Given the description of an element on the screen output the (x, y) to click on. 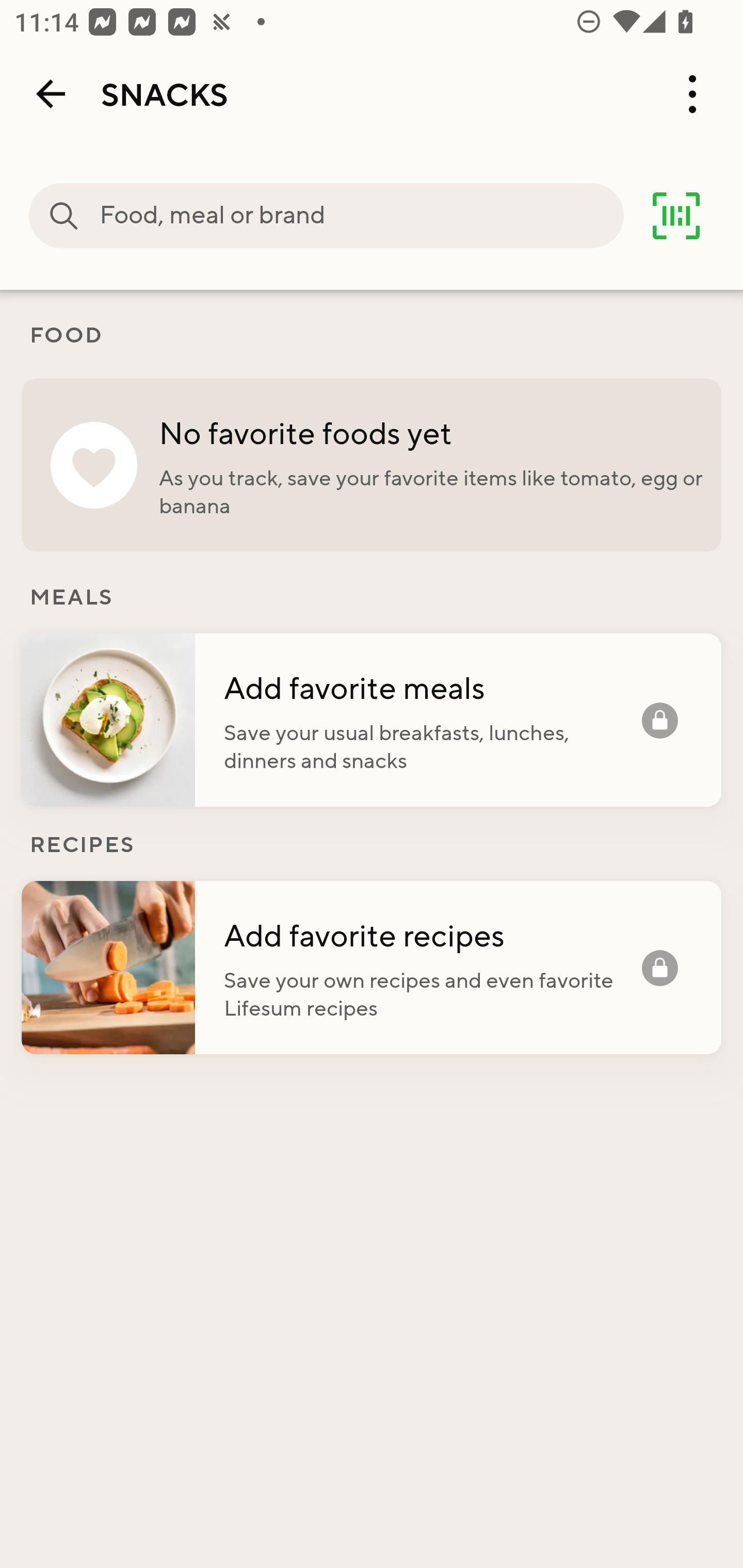
Back (50, 93)
Food, meal or brand (63, 215)
Food, meal or brand (361, 215)
Add favorite meals (432, 686)
Add favorite recipes (432, 934)
